Given the description of an element on the screen output the (x, y) to click on. 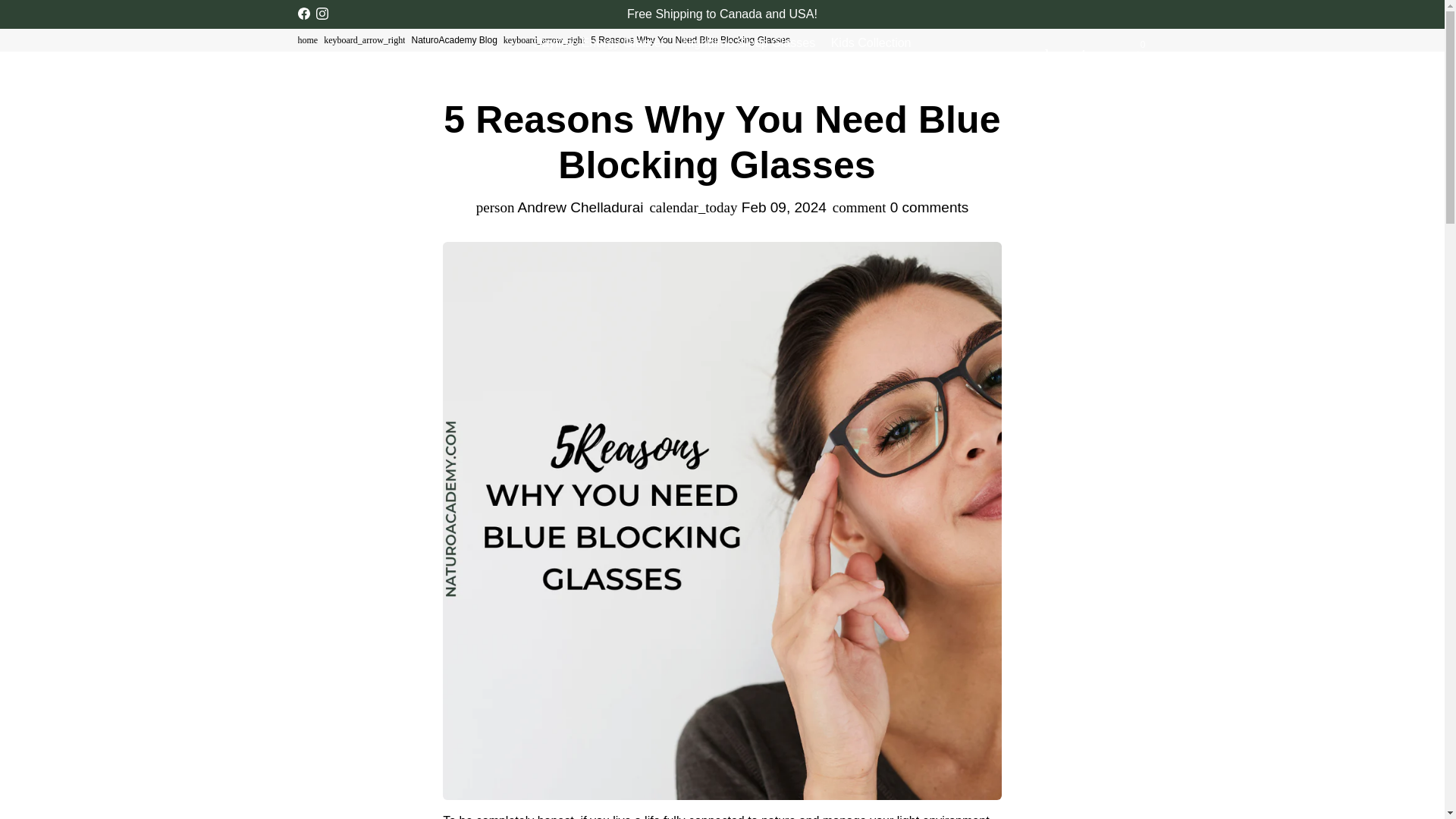
Centenarian Club (702, 66)
Cart (1089, 54)
Blog (776, 66)
Nighttime Sleep Glasses (749, 42)
NaturoAcademy on Facebook (302, 13)
NaturoAcademy on Instagram (321, 13)
5 Reasons Why You Need Blue Blocking Glasses  (691, 40)
home (307, 40)
NaturoAcademy Blog (453, 40)
